Given the description of an element on the screen output the (x, y) to click on. 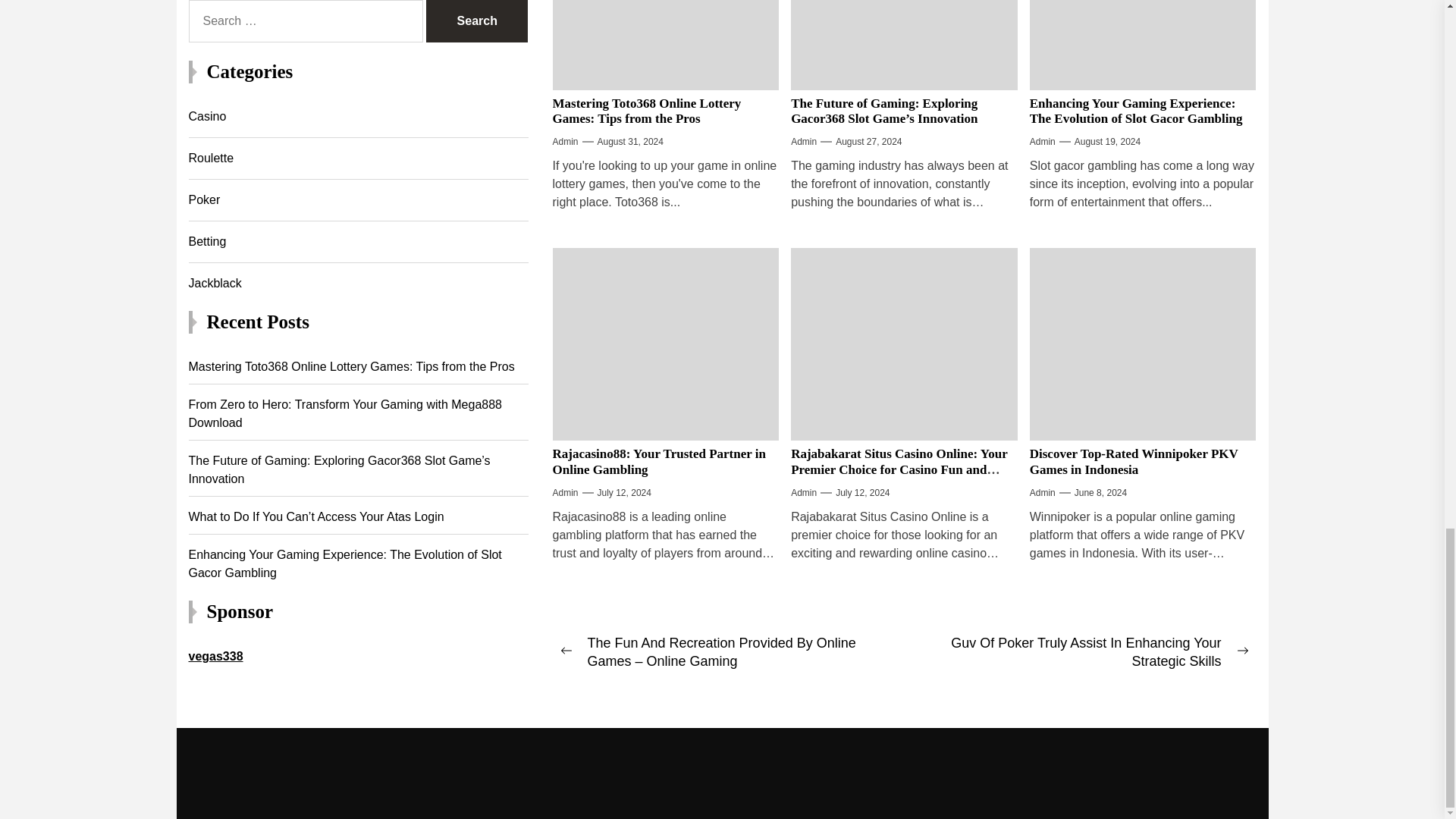
Mastering Toto368 Online Lottery Games: Tips from the Pros (646, 111)
Admin (564, 141)
August 31, 2024 (629, 141)
